Given the description of an element on the screen output the (x, y) to click on. 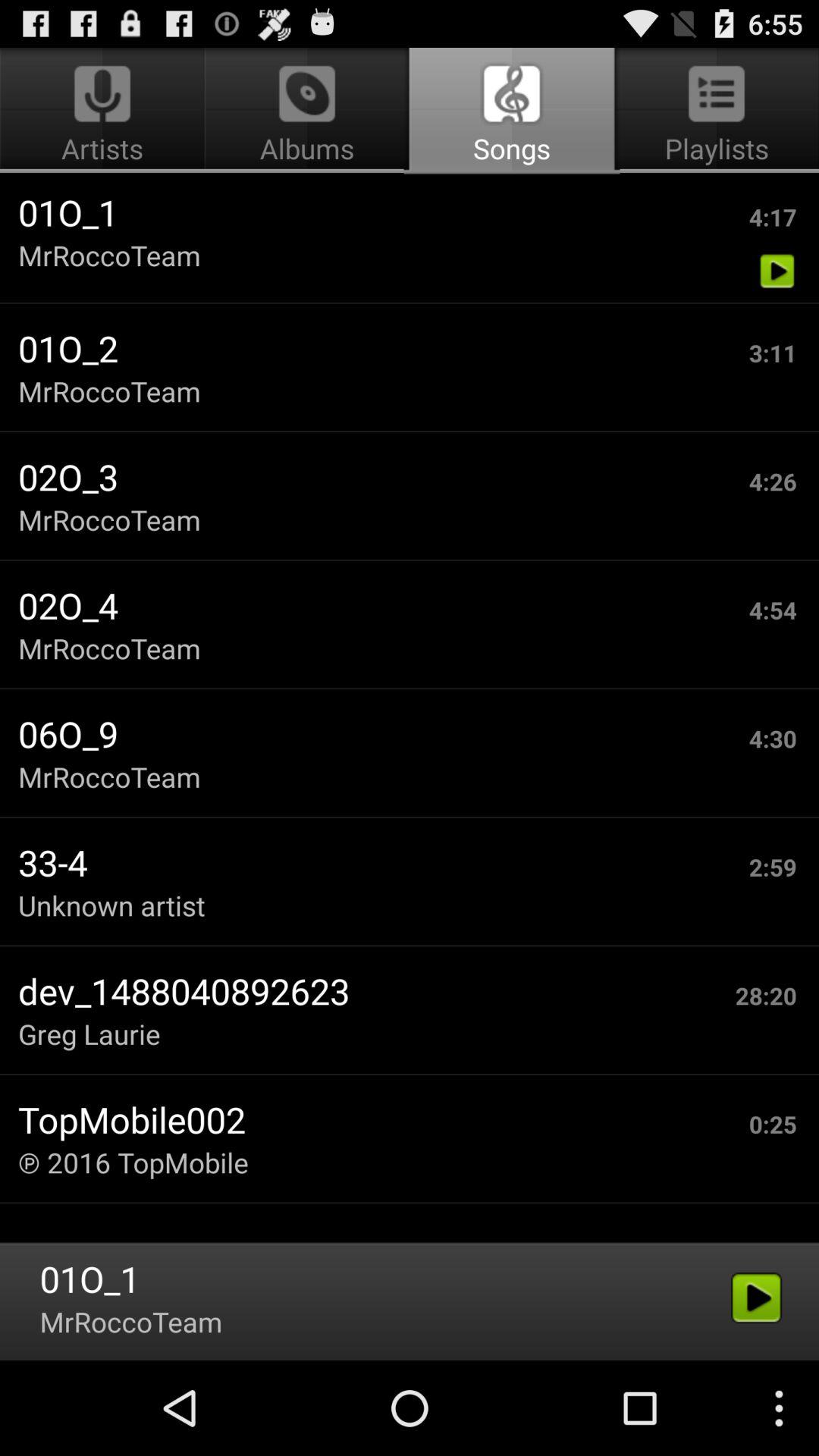
tap the songs (511, 111)
